Given the description of an element on the screen output the (x, y) to click on. 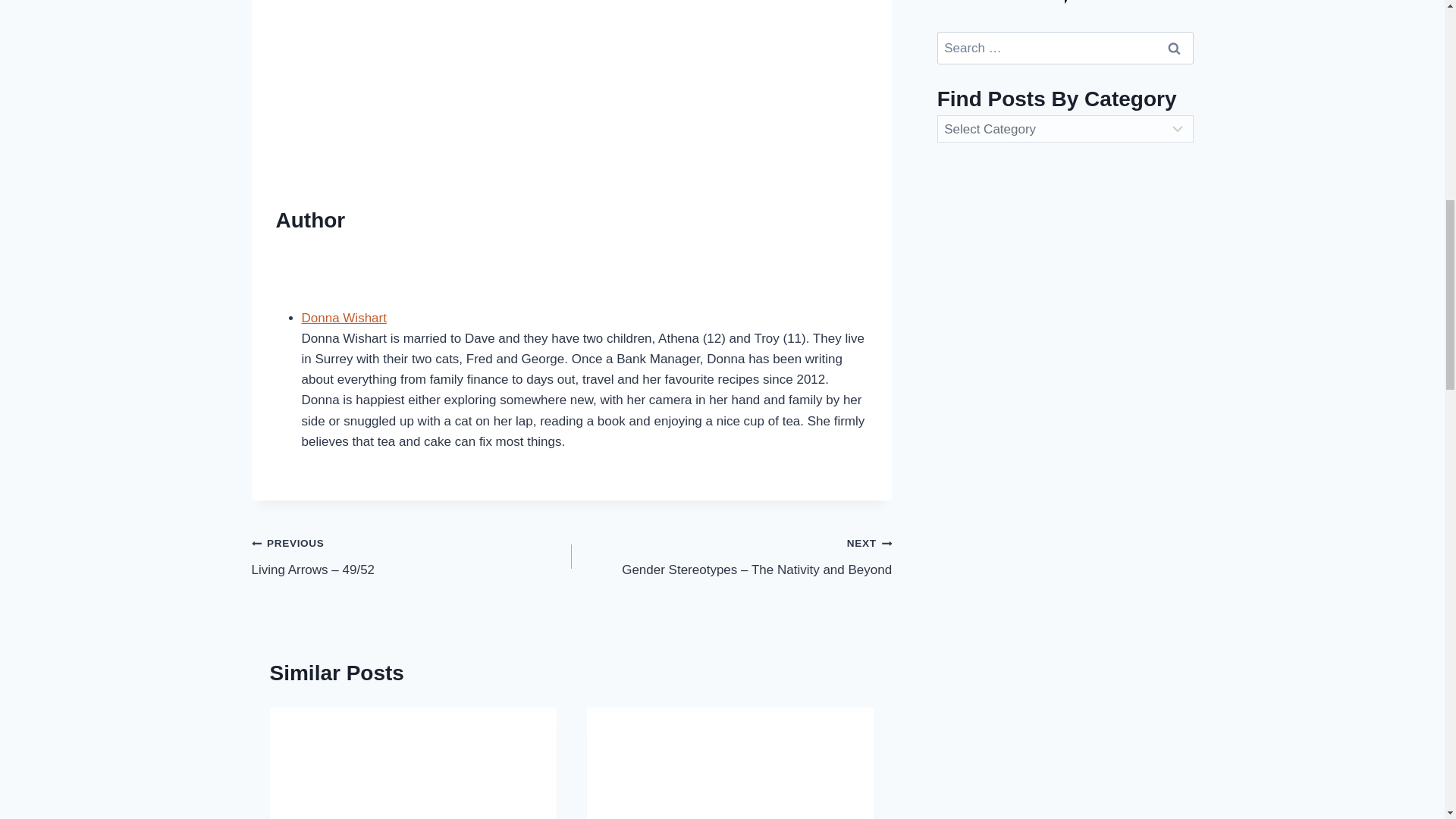
Search (1174, 47)
Donna Wishart (344, 318)
Search (1174, 47)
Donna Wishart (344, 318)
